Given the description of an element on the screen output the (x, y) to click on. 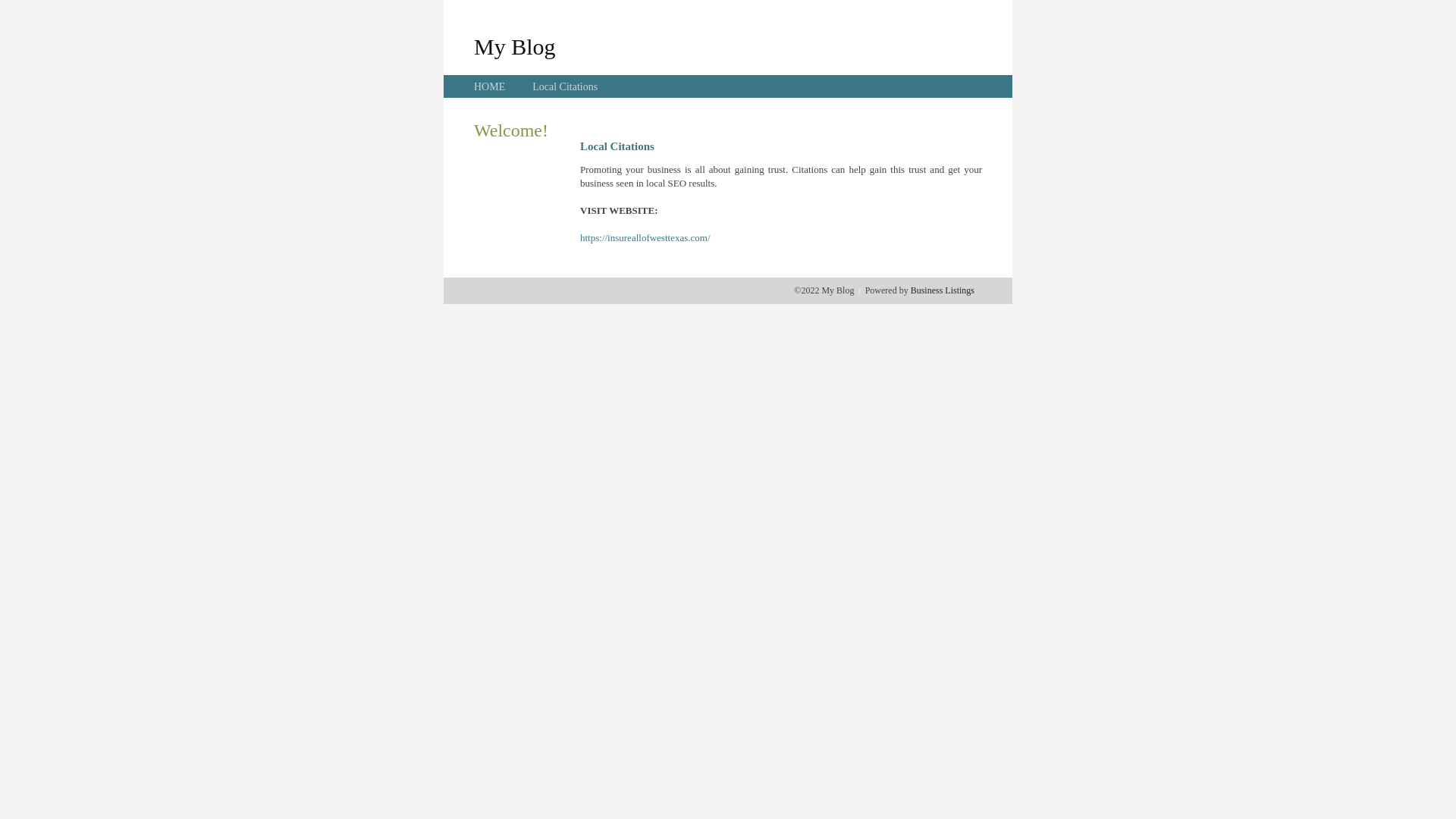
Business Listings Element type: text (942, 290)
Local Citations Element type: text (564, 86)
https://insureallofwesttexas.com/ Element type: text (645, 237)
My Blog Element type: text (514, 46)
HOME Element type: text (489, 86)
